Given the description of an element on the screen output the (x, y) to click on. 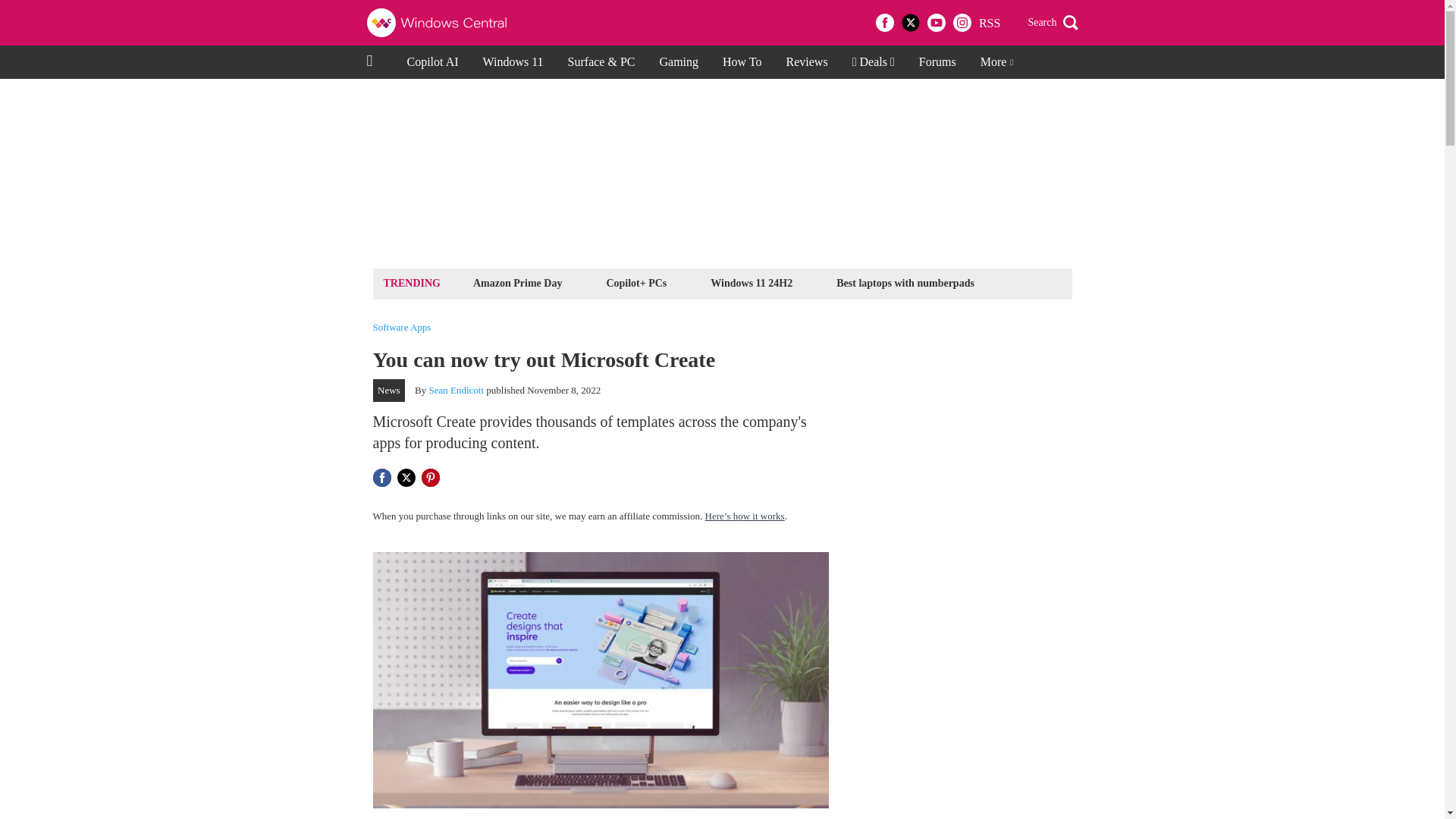
Best laptops with numberpads (905, 282)
Sean Endicott (456, 389)
RSS (989, 22)
Software Apps (401, 327)
Reviews (807, 61)
News (389, 390)
Windows 11 24H2 (750, 282)
Forums (937, 61)
How To (741, 61)
Amazon Prime Day (517, 282)
Windows 11 (513, 61)
Gaming (678, 61)
Copilot AI (432, 61)
